Given the description of an element on the screen output the (x, y) to click on. 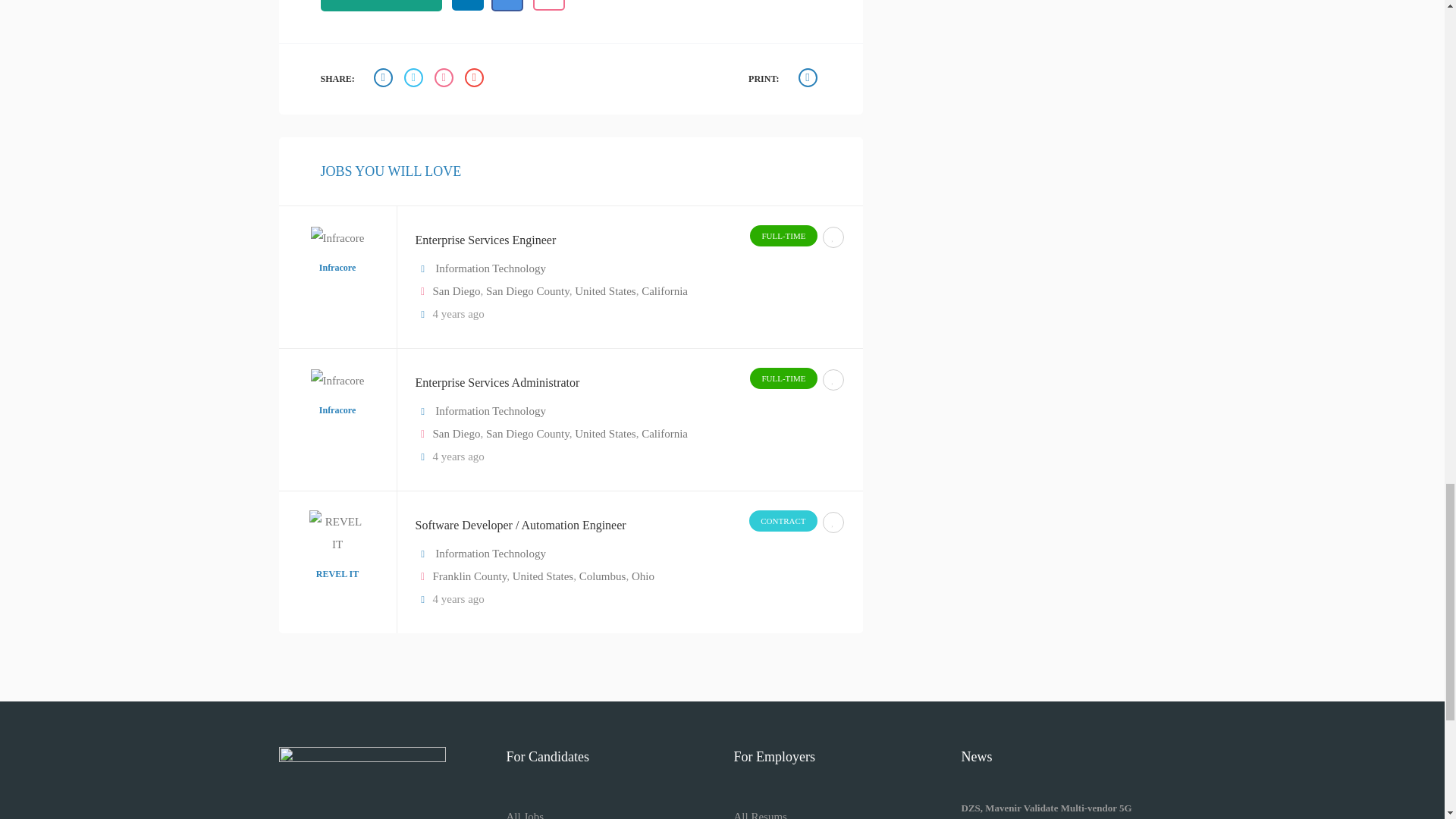
LINKEDIN APPLY (467, 5)
Share on Facebook (385, 78)
FACEBOOK APPLIED (507, 5)
